Given the description of an element on the screen output the (x, y) to click on. 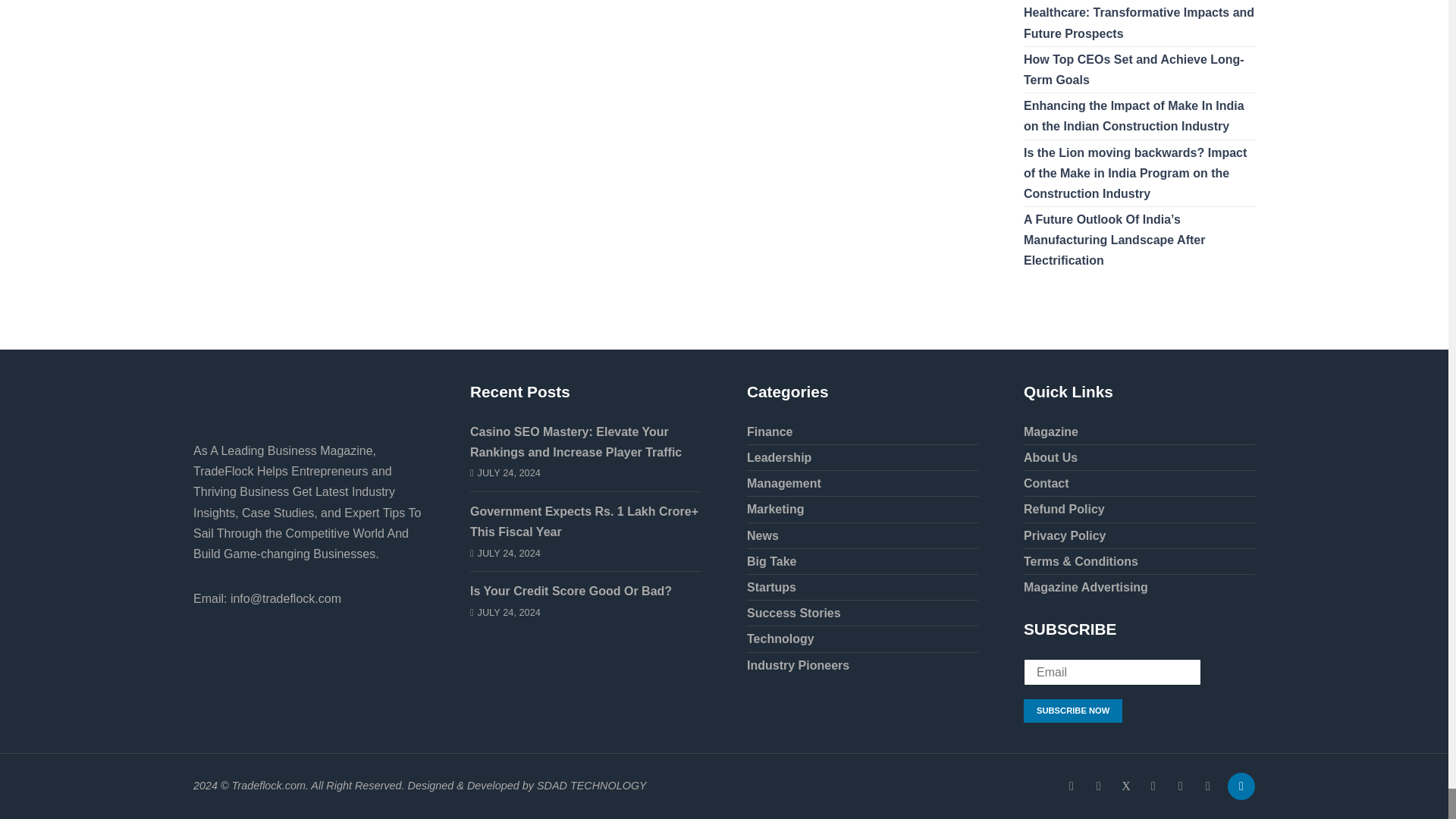
Go to Top (1238, 786)
Subscribe Now (1072, 710)
